Given the description of an element on the screen output the (x, y) to click on. 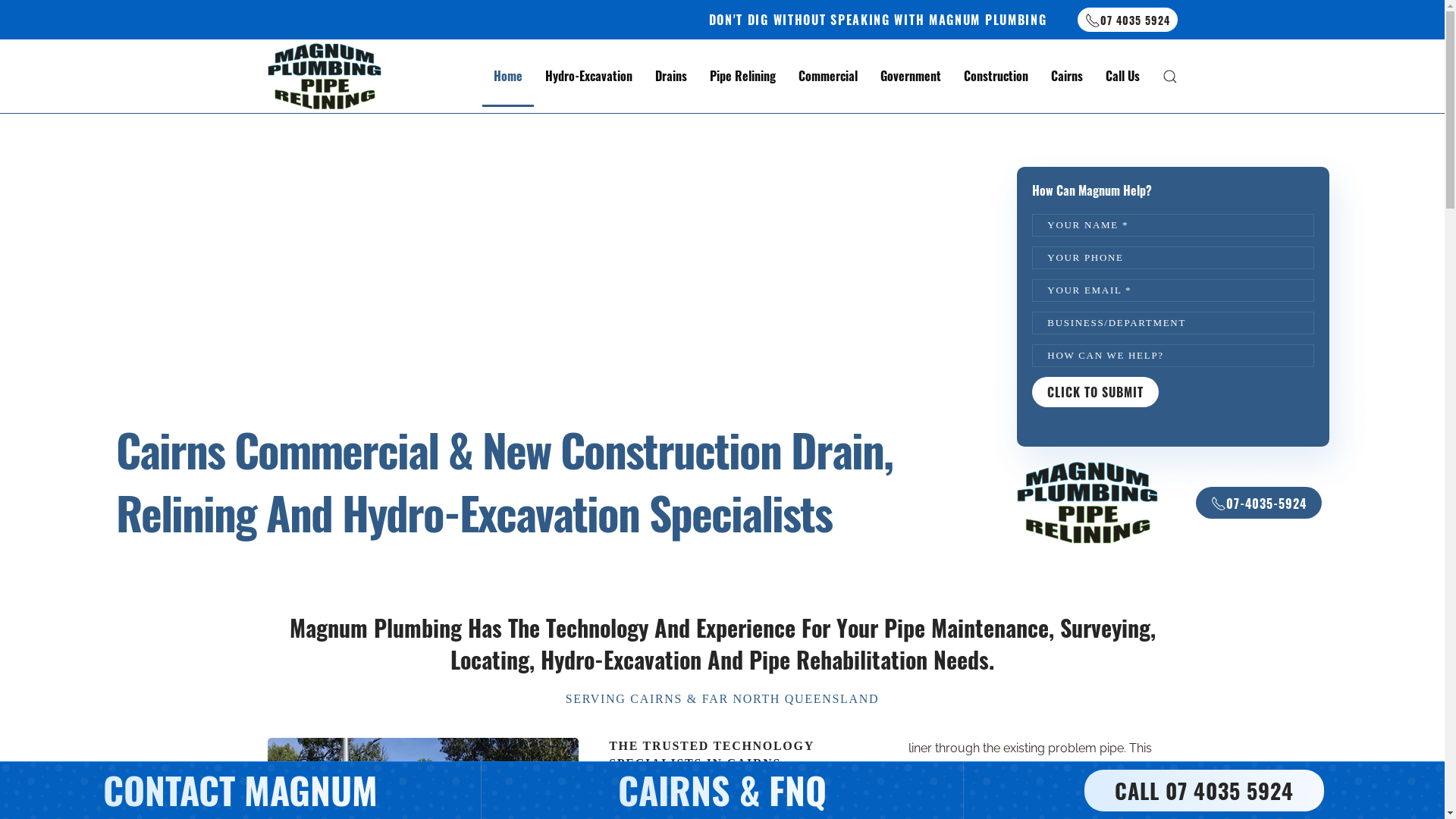
Cairns Element type: text (1065, 76)
CLICK TO SUBMIT Element type: text (1095, 391)
Hydro-Excavation Element type: text (588, 76)
07-4035-5924 Element type: text (1258, 502)
Call Us Element type: text (1121, 76)
07 4035 5924 Element type: text (1126, 19)
Construction Element type: text (995, 76)
Home Element type: text (507, 76)
Pipe Relining Element type: text (741, 76)
Drains Element type: text (670, 76)
Government Element type: text (910, 76)
Commercial Element type: text (828, 76)
CALL 07 4035 5924 Element type: text (1204, 790)
